Given the description of an element on the screen output the (x, y) to click on. 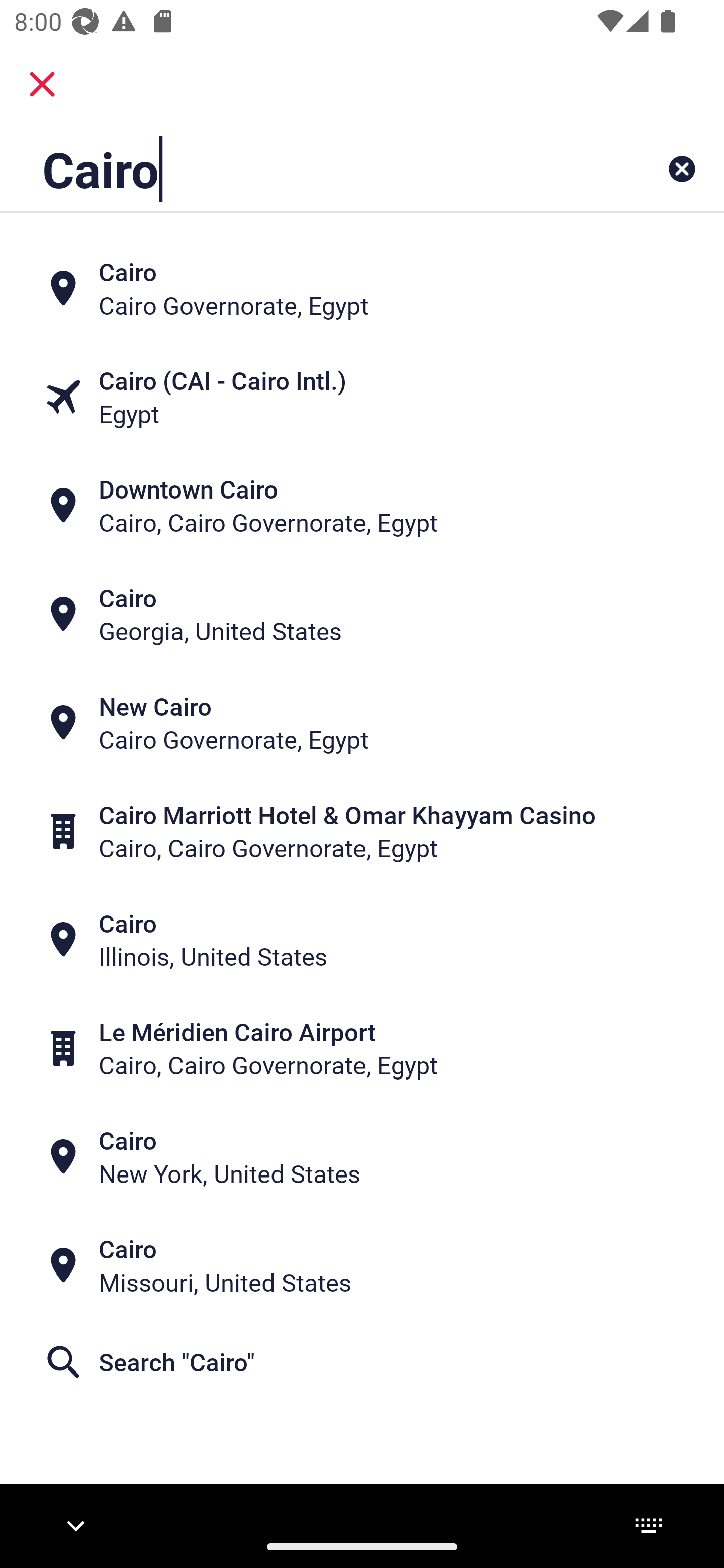
close. (42, 84)
Clear (681, 169)
Cairo (298, 169)
Cairo Cairo Governorate, Egypt (362, 288)
Cairo (CAI - Cairo Intl.) Egypt (362, 397)
Downtown Cairo Cairo, Cairo Governorate, Egypt (362, 505)
Cairo Georgia, United States (362, 613)
New Cairo Cairo Governorate, Egypt (362, 722)
Cairo Illinois, United States (362, 939)
Cairo New York, United States (362, 1156)
Cairo Missouri, United States (362, 1265)
Search "Cairo" (362, 1362)
